Given the description of an element on the screen output the (x, y) to click on. 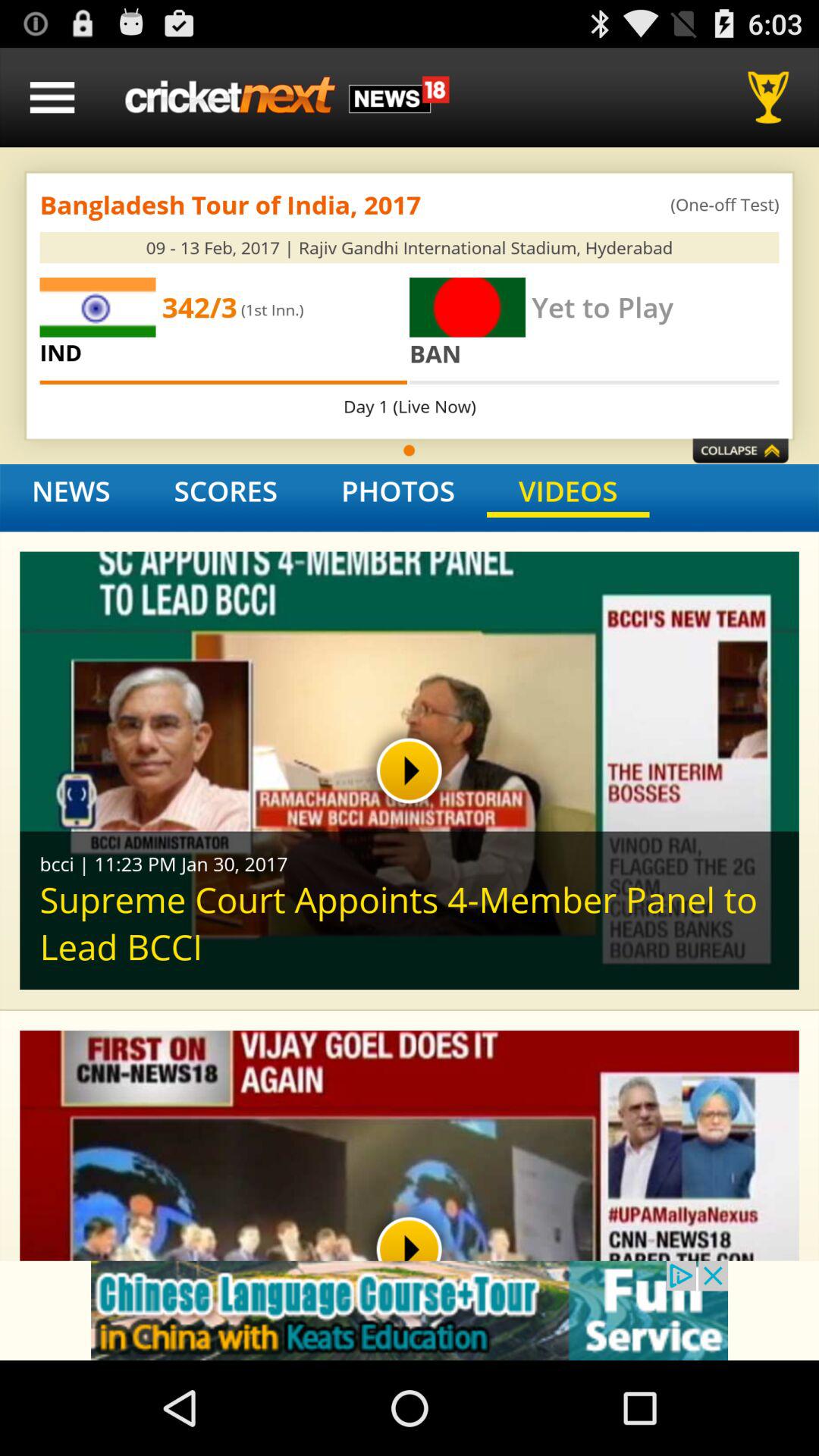
menu option (52, 97)
